Given the description of an element on the screen output the (x, y) to click on. 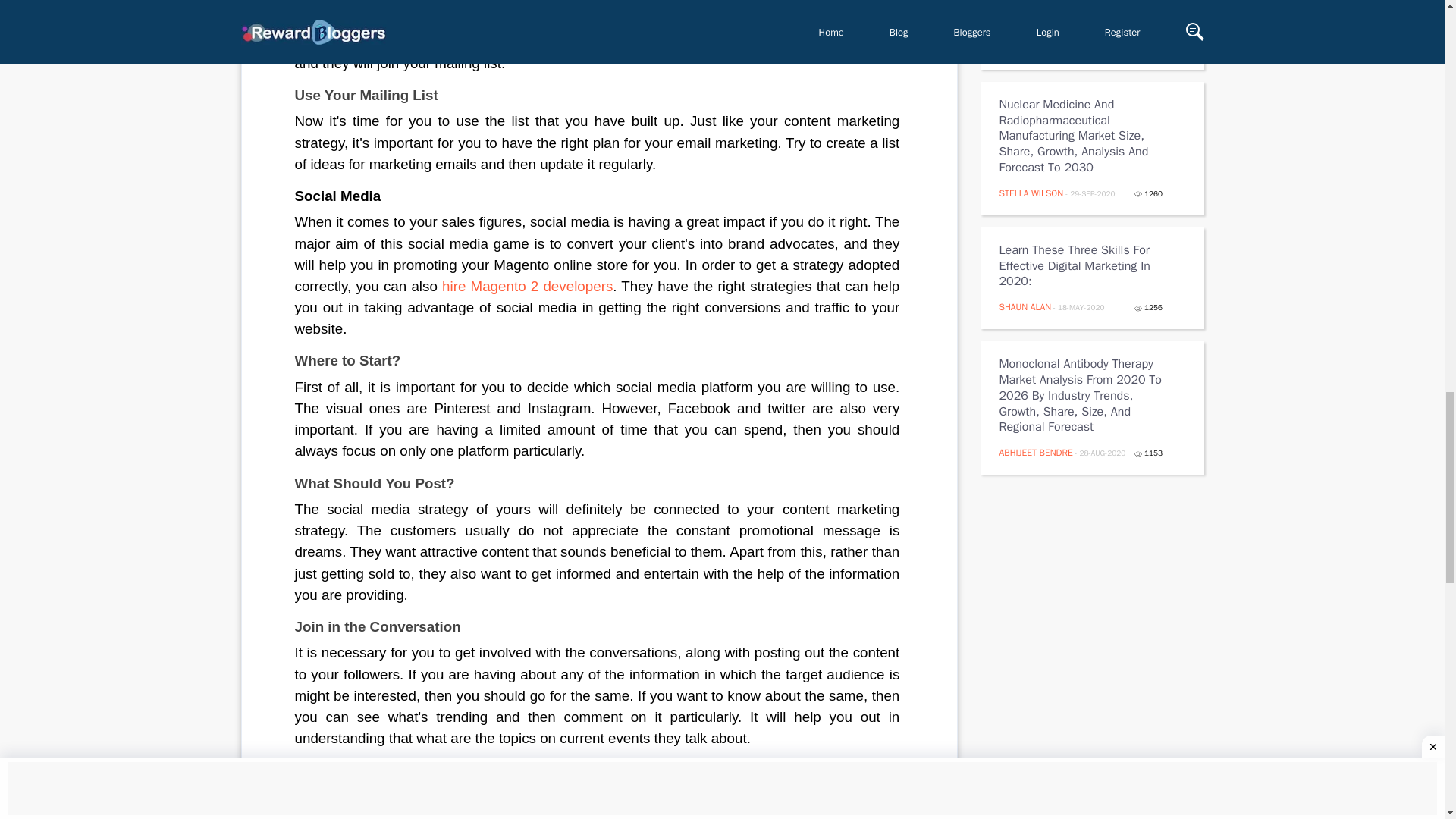
hire Magento 2 developers (527, 286)
FRAYASHTI TELE (1031, 47)
SHAUN ALAN (1024, 306)
STELLA WILSON (1031, 193)
ABHIJEET BENDRE (1035, 452)
